Given the description of an element on the screen output the (x, y) to click on. 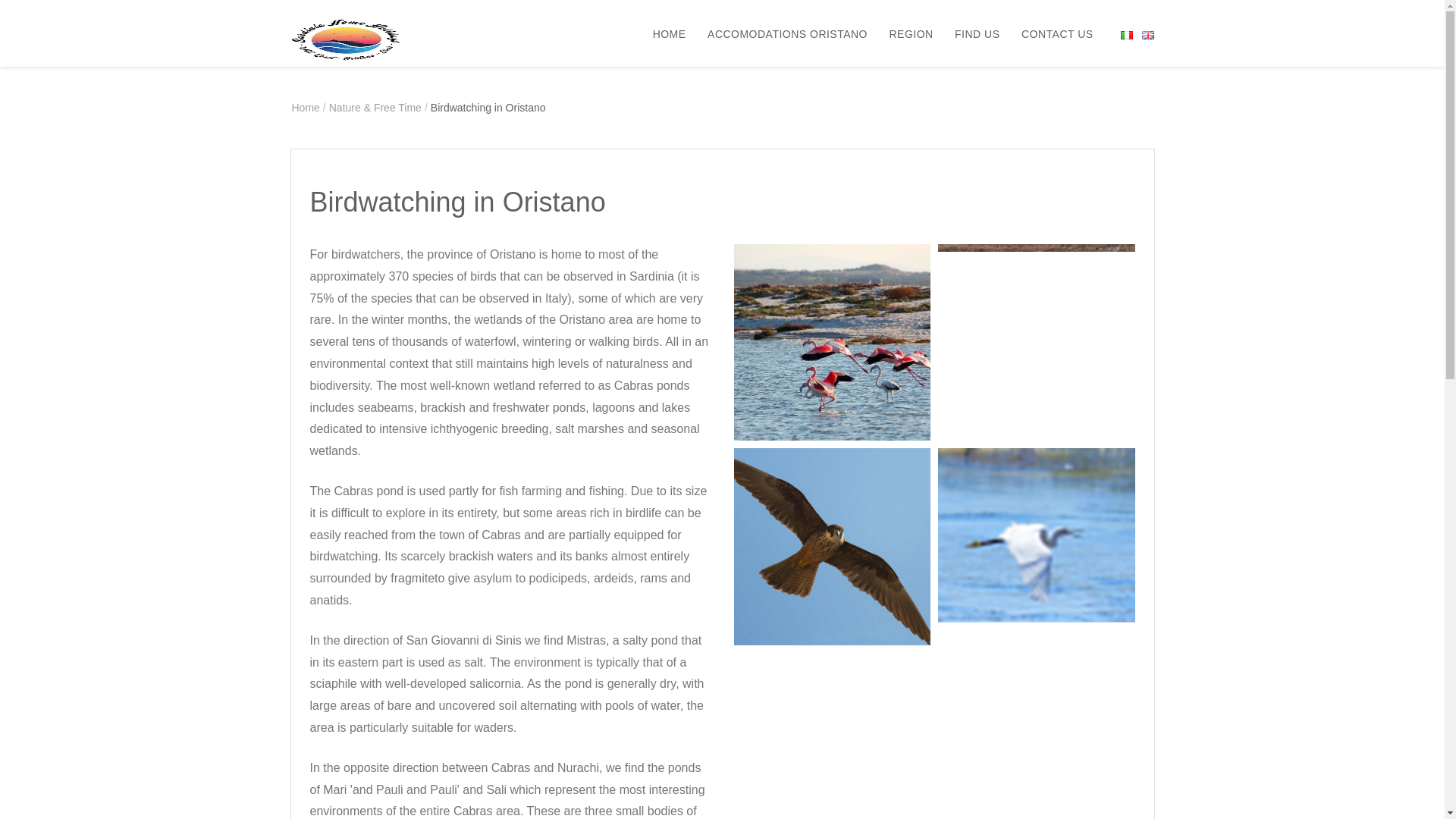
FIND US (967, 33)
Birdwatching (1036, 342)
REGION (901, 33)
Home (304, 107)
Home (304, 107)
CONTACT US (1048, 33)
ACCOMODATIONS ORISTANO (777, 33)
